Given the description of an element on the screen output the (x, y) to click on. 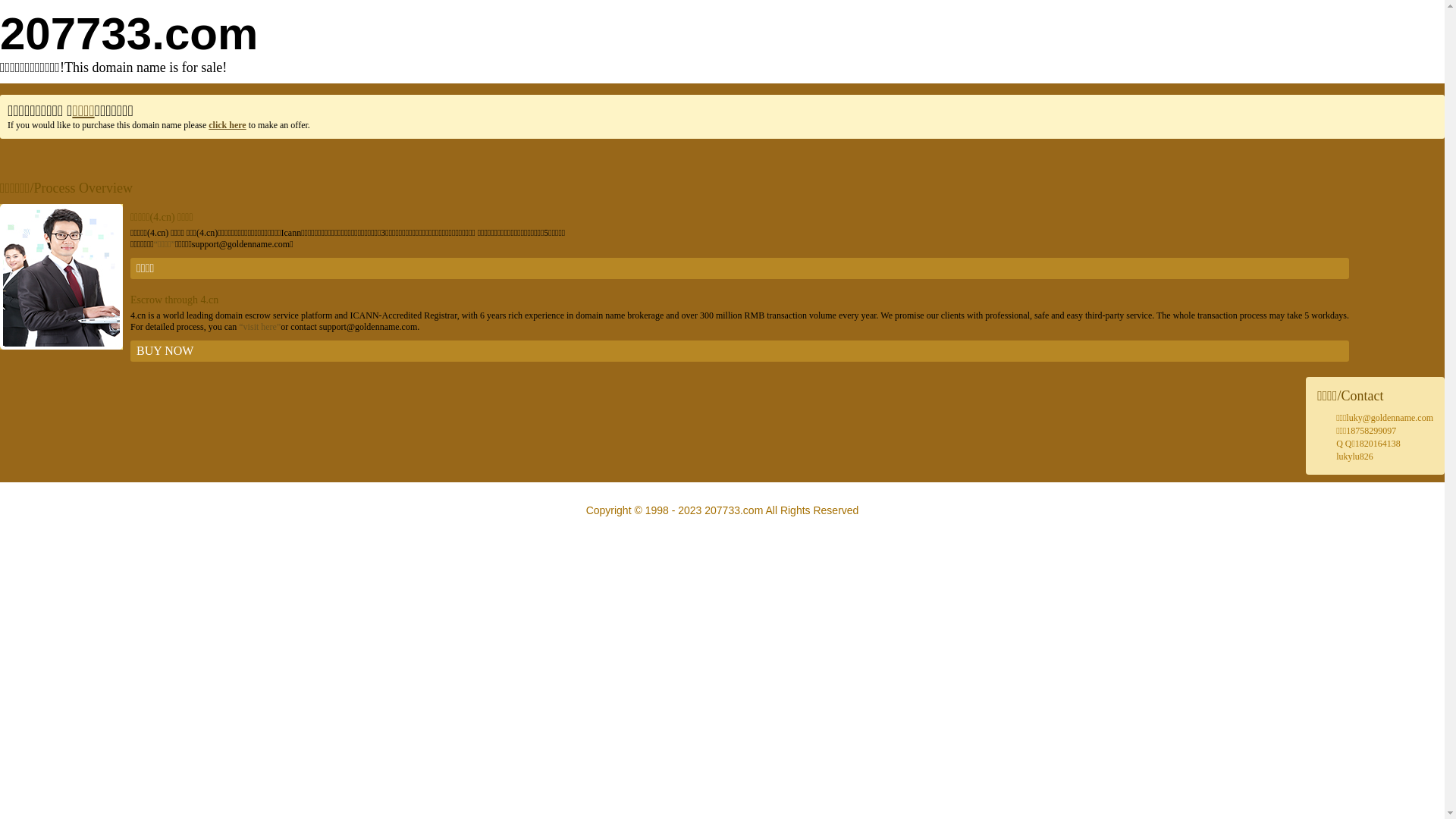
click here Element type: text (226, 124)
BUY NOW Element type: text (739, 350)
